Given the description of an element on the screen output the (x, y) to click on. 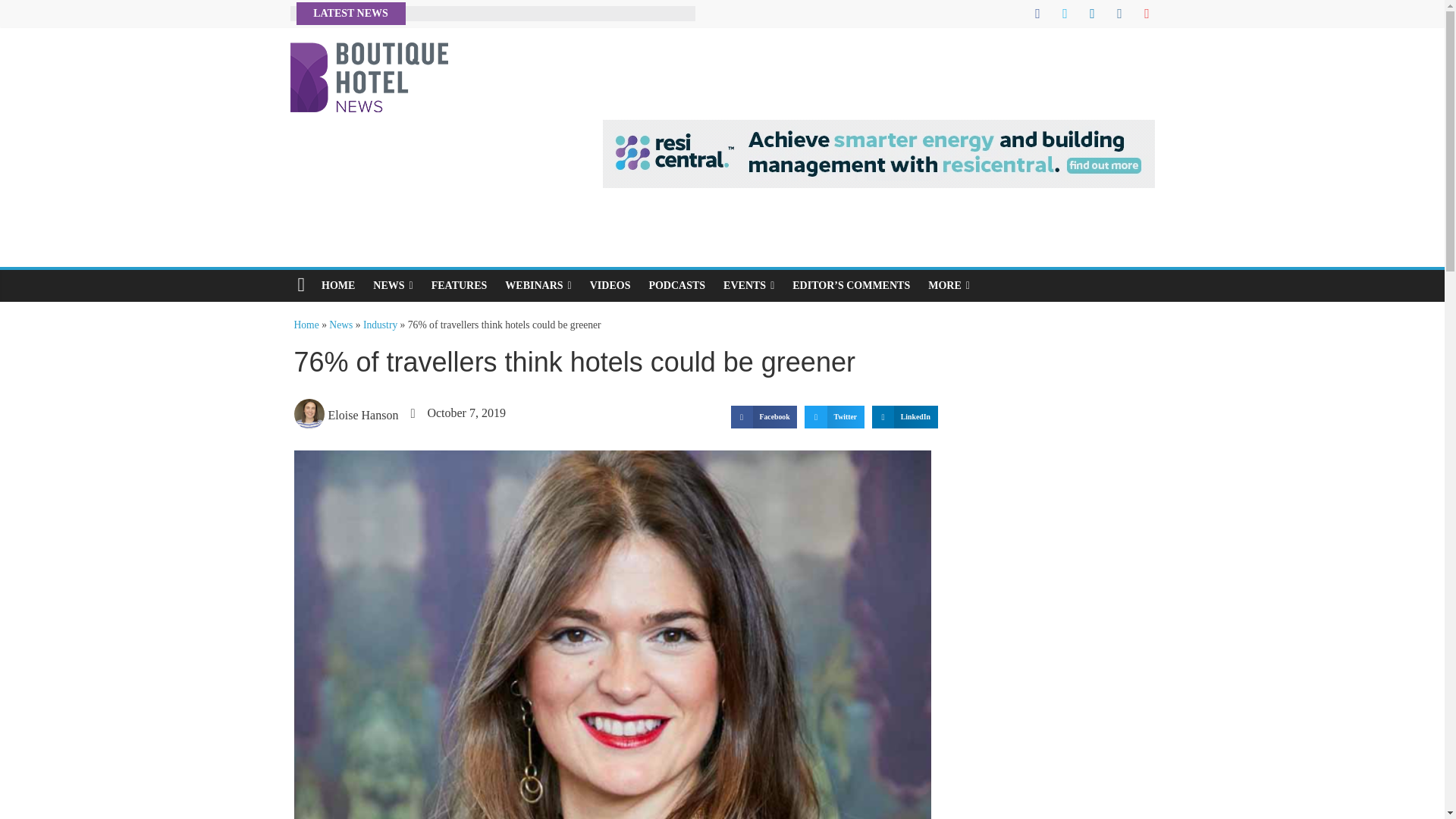
HOME (338, 286)
FEATURES (459, 286)
NEWS (393, 286)
